Given the description of an element on the screen output the (x, y) to click on. 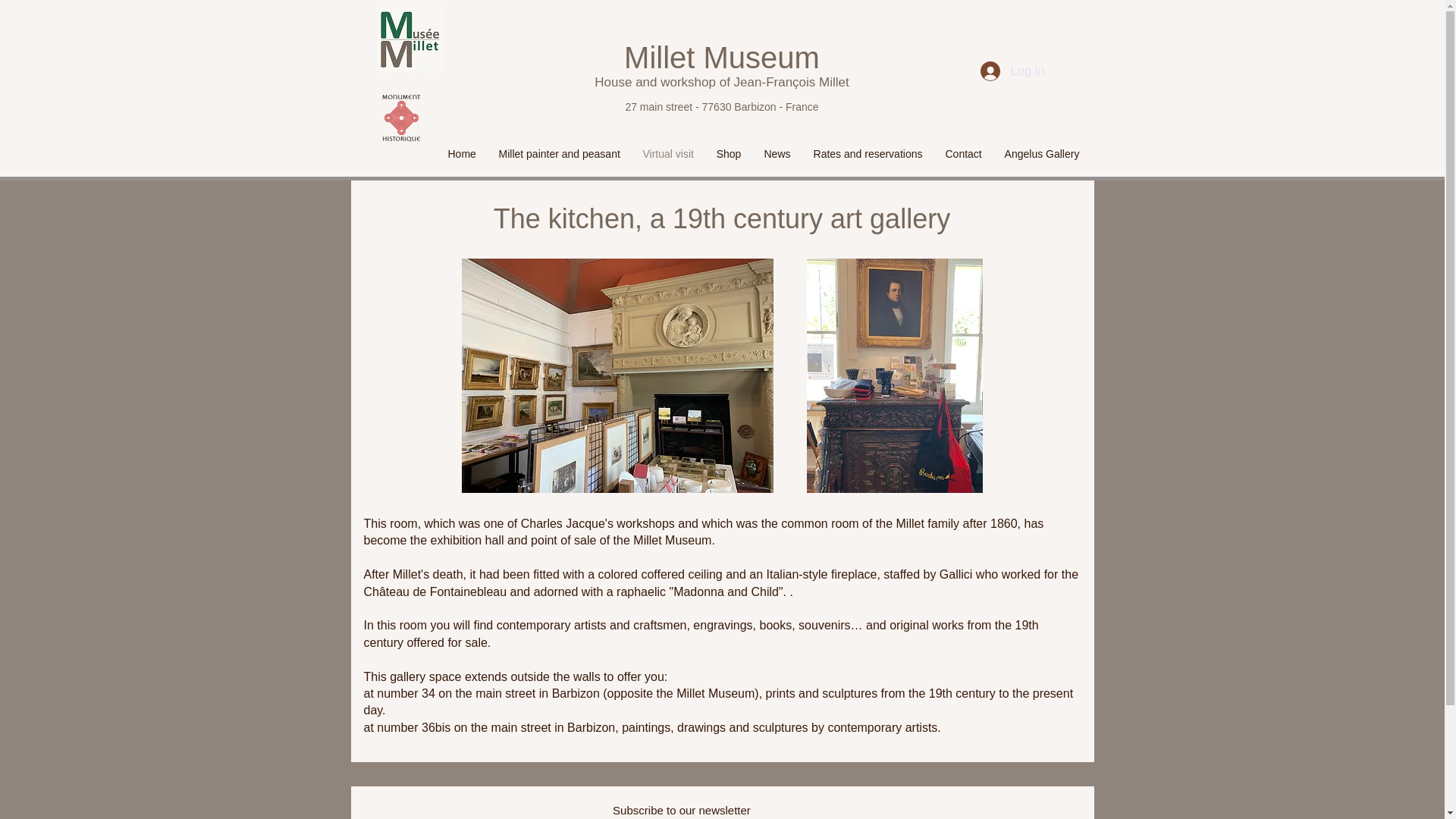
Virtual visit (667, 153)
Angelus Gallery (1041, 153)
Millet painter and peasant (558, 153)
Shop (728, 153)
News (777, 153)
Log In (1011, 70)
Rates and reservations (868, 153)
Contact (963, 153)
Home (461, 153)
